Given the description of an element on the screen output the (x, y) to click on. 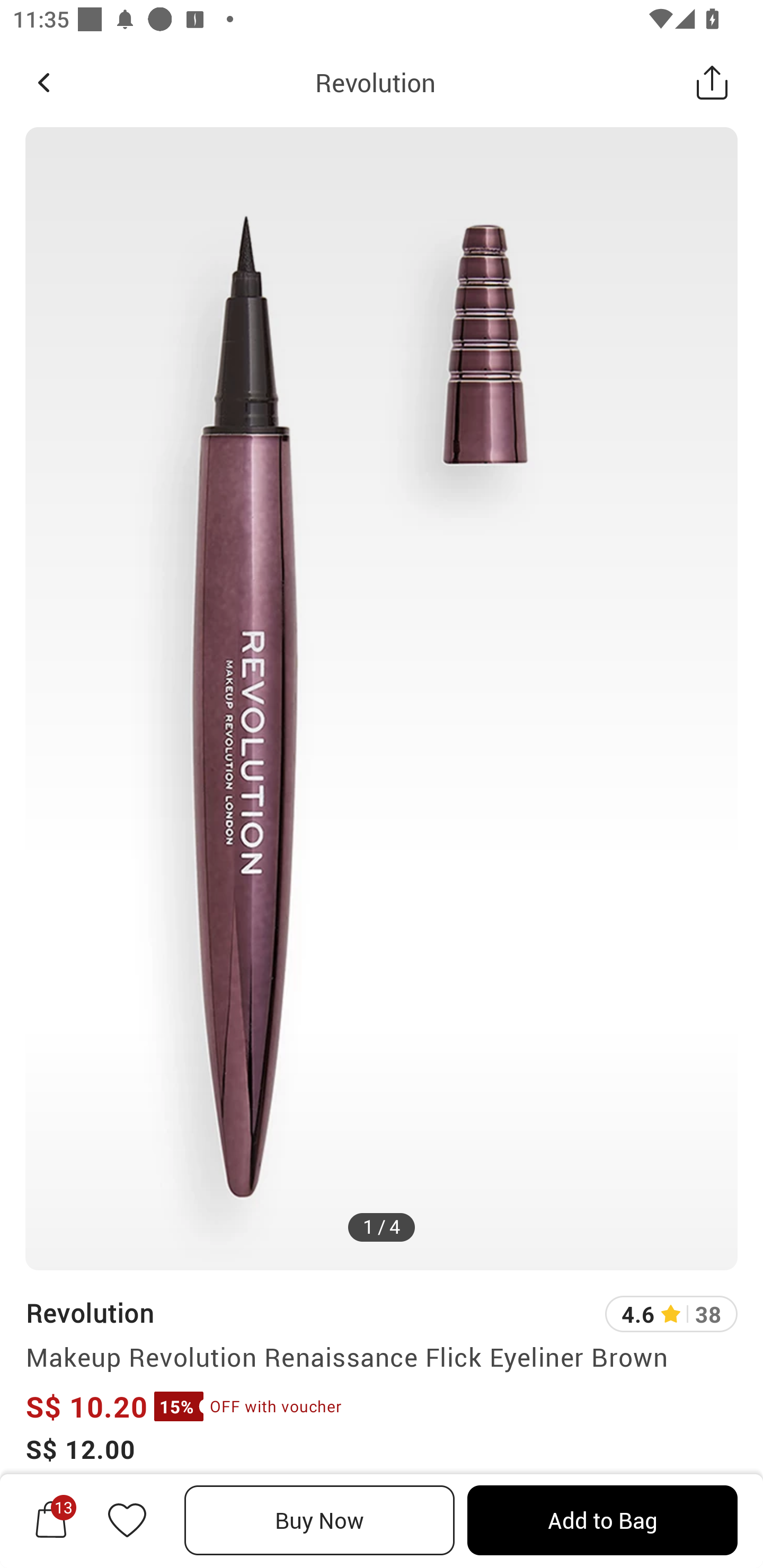
Revolution (375, 82)
Share this Product (711, 82)
Revolution (89, 1312)
4.6 38 (671, 1313)
Buy Now (319, 1519)
Add to Bag (601, 1519)
13 (50, 1520)
